Given the description of an element on the screen output the (x, y) to click on. 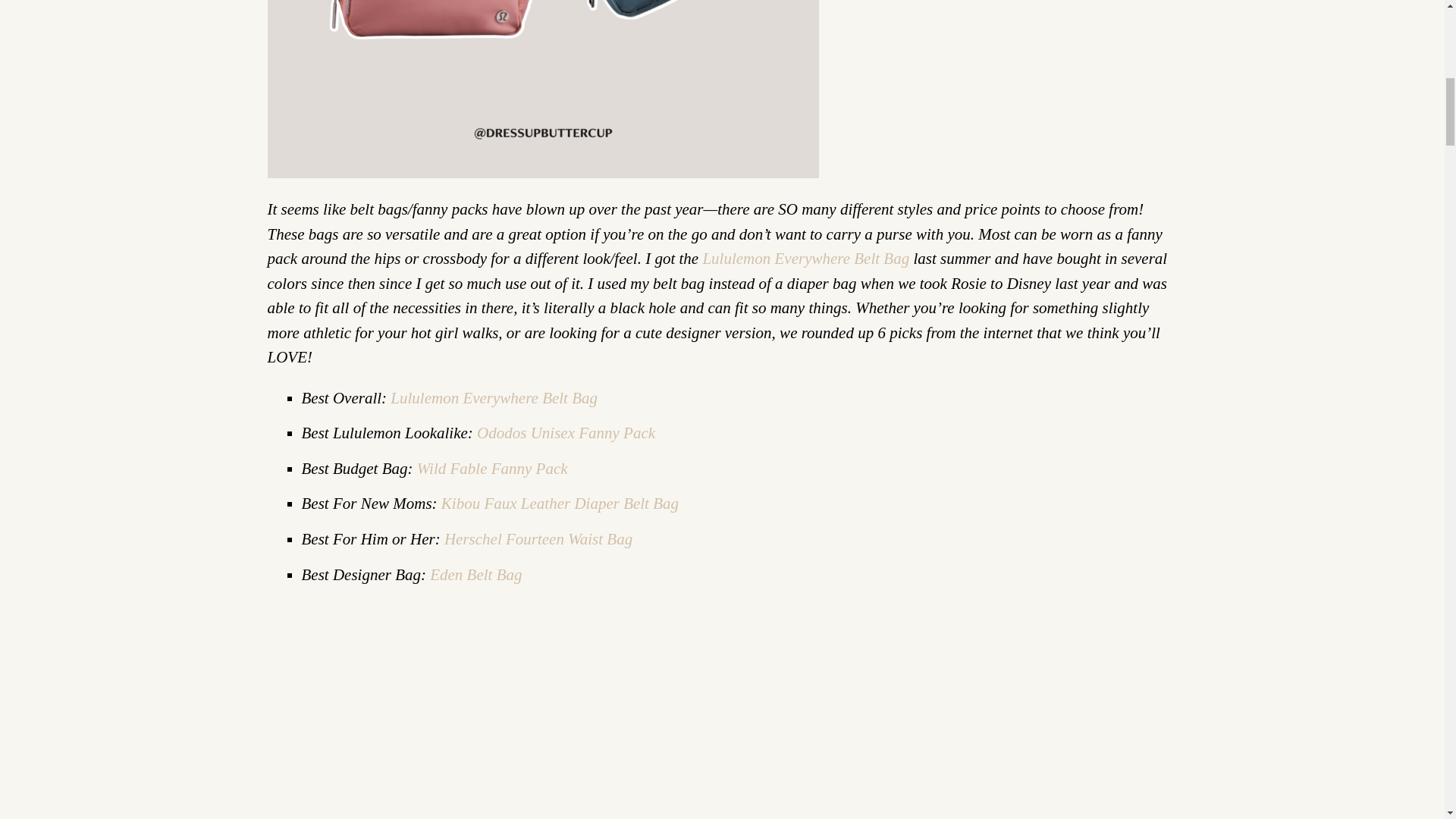
Eden Belt Bag (475, 574)
Lululemon Everywhere Belt Bag (804, 258)
Kibou Faux Leather Diaper Belt Bag (558, 503)
Herschel Fourteen Waist Bag (537, 538)
Lululemon Everywhere Belt Bag (493, 398)
Ododos Unisex Fanny Pack (566, 433)
Wild Fable Fanny Pack (491, 468)
